Given the description of an element on the screen output the (x, y) to click on. 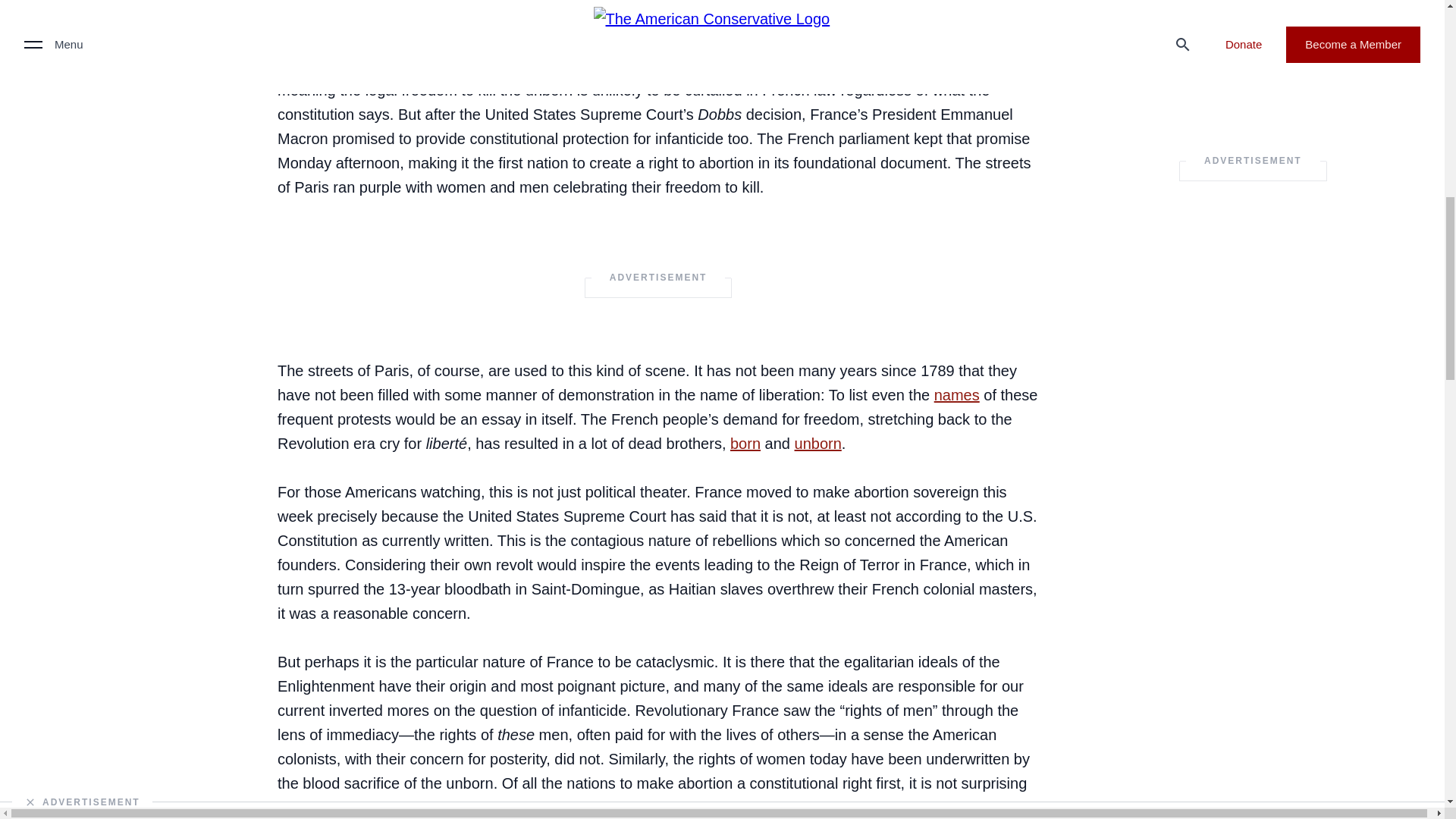
born (745, 443)
a right to abortion in the French constitution (654, 12)
names (956, 394)
